Given the description of an element on the screen output the (x, y) to click on. 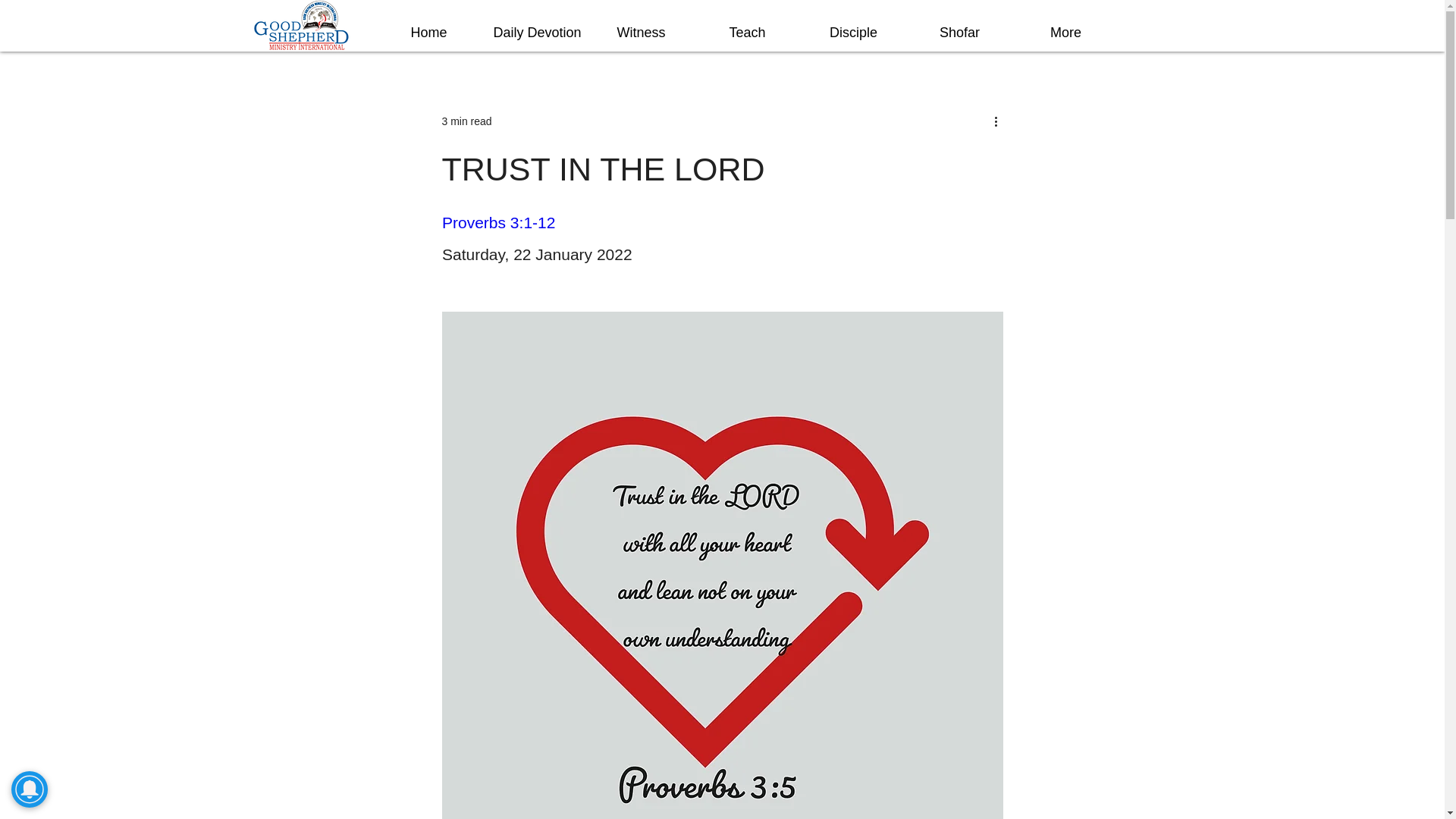
Proverbs 3:1-12 (497, 221)
Teach (747, 32)
Witness (641, 32)
Home (428, 32)
Shofar (960, 32)
GSMI LOGO FOR WORK.png (300, 25)
Disciple (853, 32)
Daily Devotion (534, 32)
3 min read (466, 121)
